Given the description of an element on the screen output the (x, y) to click on. 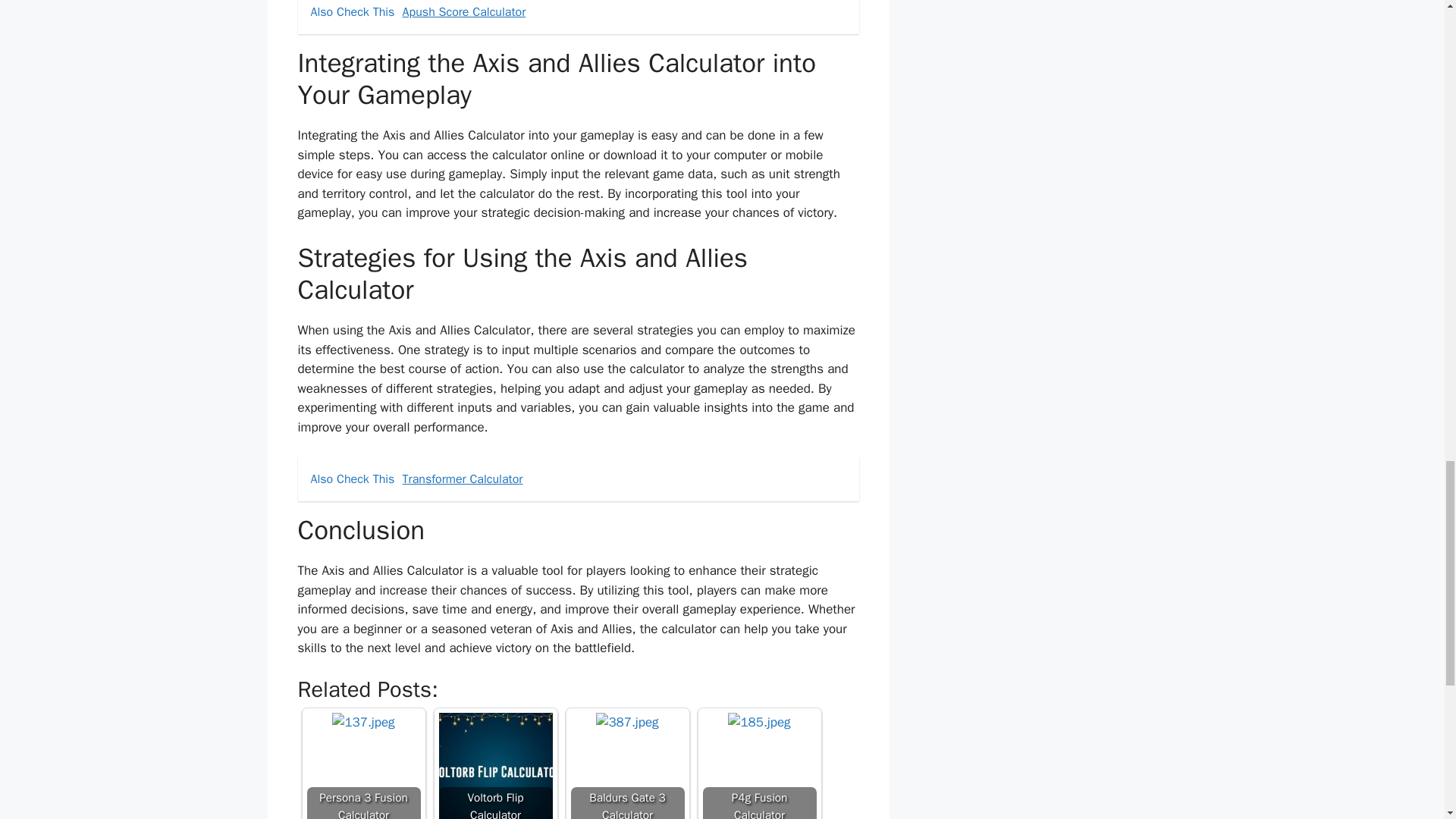
Baldurs Gate 3 Calculator (626, 722)
P4g Fusion Calculator (759, 722)
Voltorb Flip Calculator (494, 765)
P4g Fusion Calculator (758, 765)
Baldurs Gate 3 Calculator (627, 765)
Also Check This  Apush Score Calculator (578, 17)
Also Check This  Transformer Calculator (578, 479)
Voltorb Flip Calculator (494, 765)
Persona 3 Fusion Calculator (362, 722)
Persona 3 Fusion Calculator (362, 765)
